Given the description of an element on the screen output the (x, y) to click on. 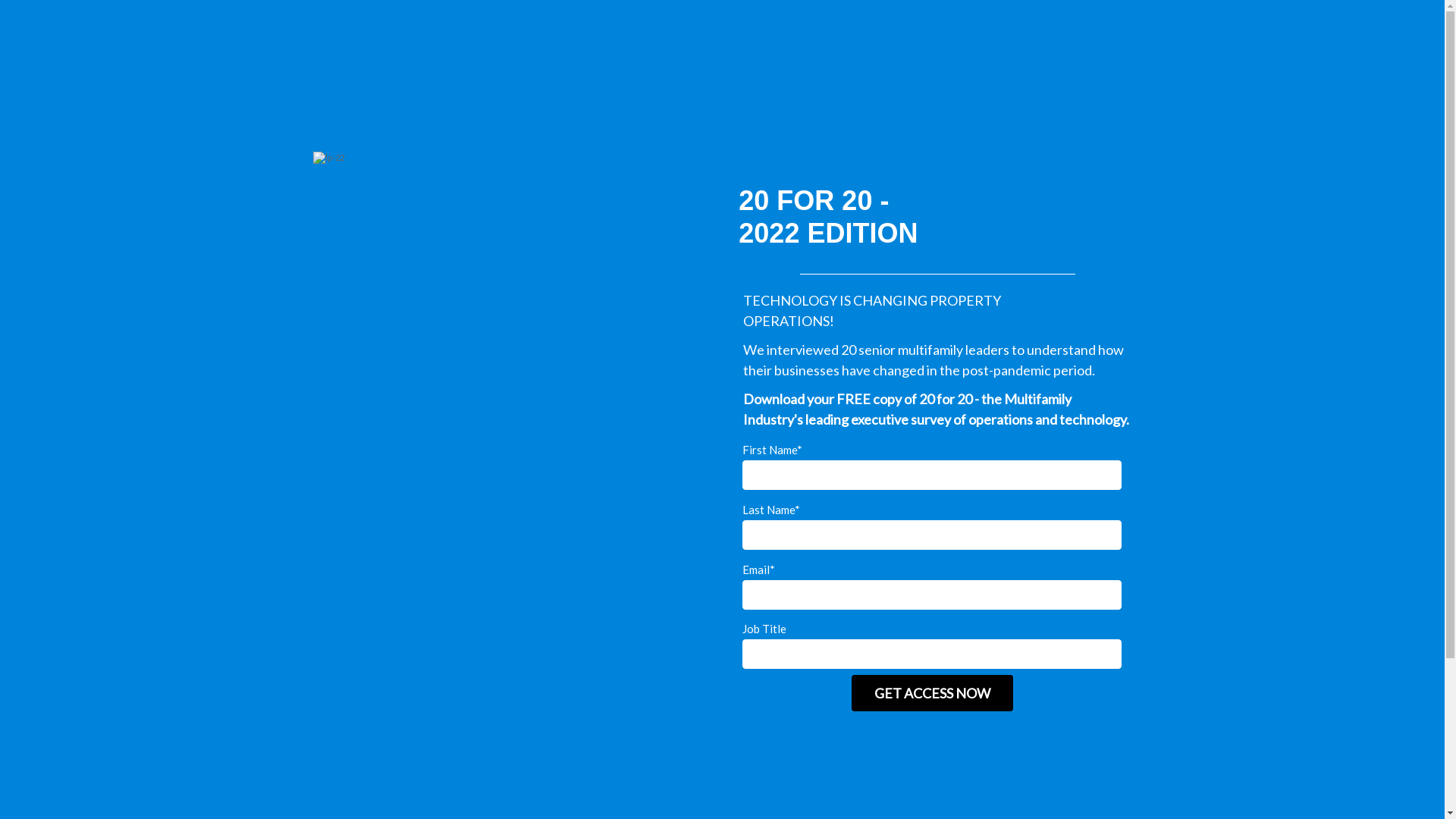
lp-22 Element type: hover (511, 447)
GET ACCESS NOW Element type: text (932, 692)
